Given the description of an element on the screen output the (x, y) to click on. 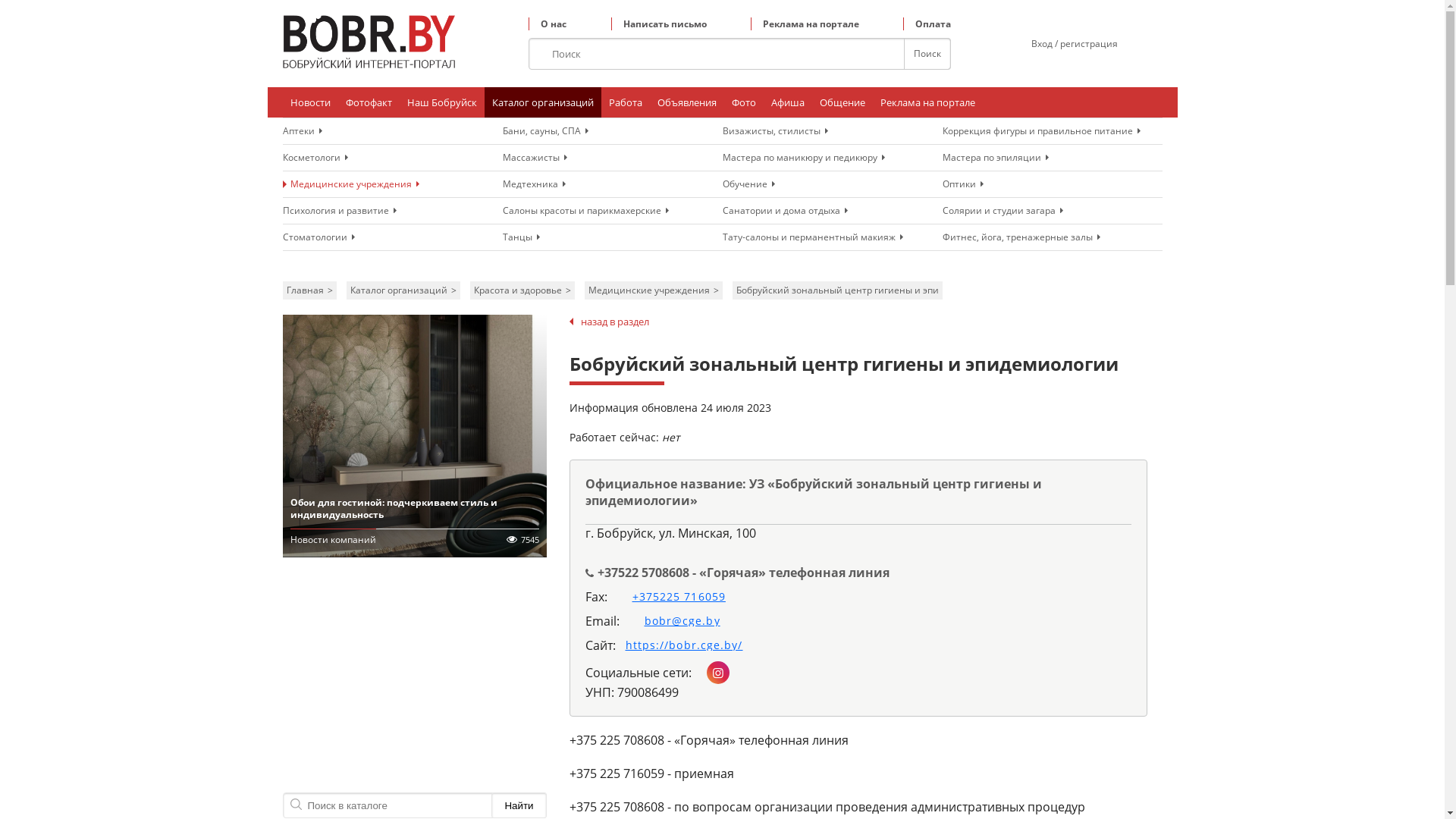
Advertisement Element type: hover (414, 678)
+375225 716059 Element type: text (672, 596)
https://bobr.cge.by/ Element type: text (679, 645)
bobr@cge.by Element type: text (676, 620)
